Given the description of an element on the screen output the (x, y) to click on. 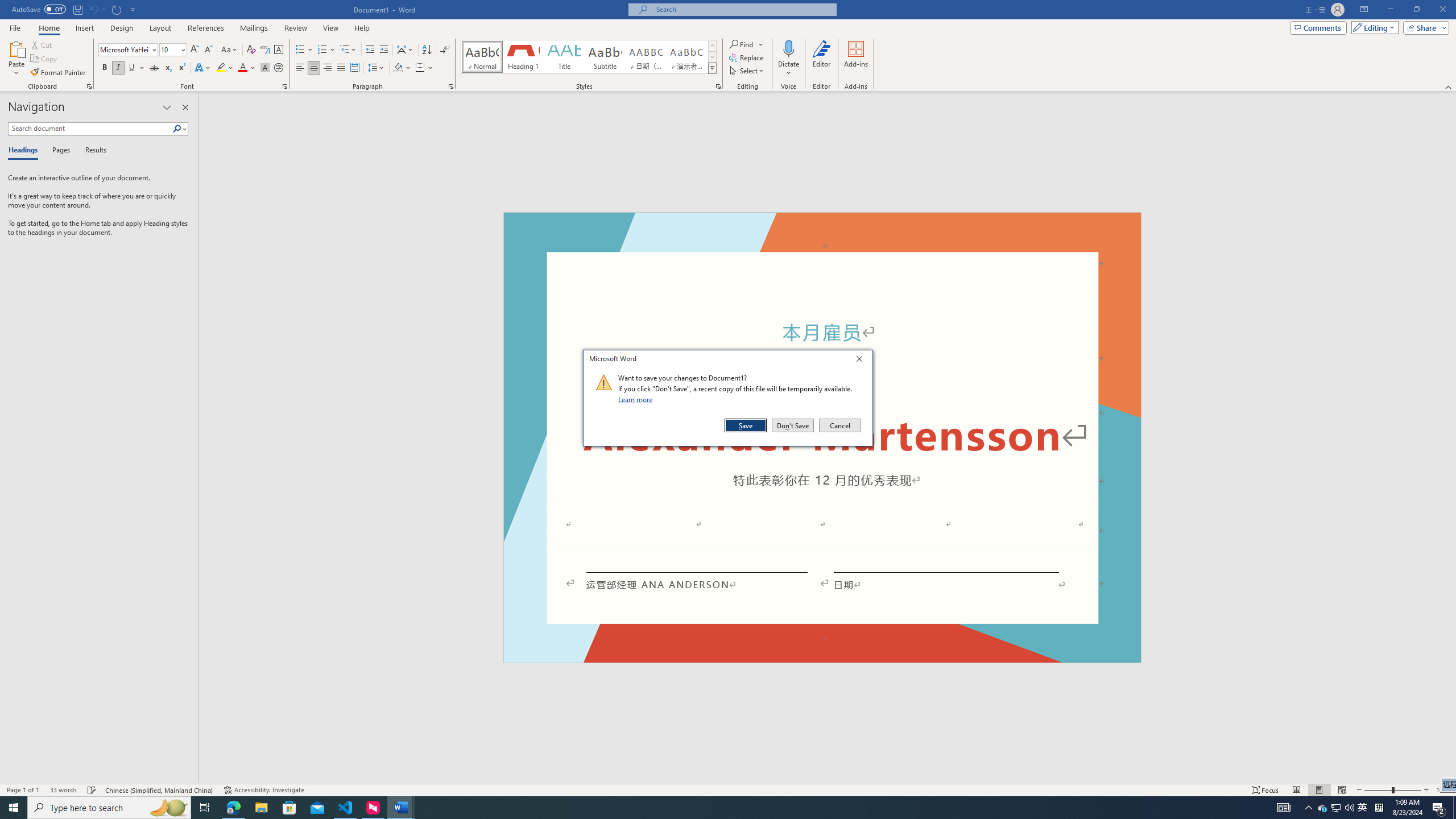
Can't Undo (96, 9)
